Given the description of an element on the screen output the (x, y) to click on. 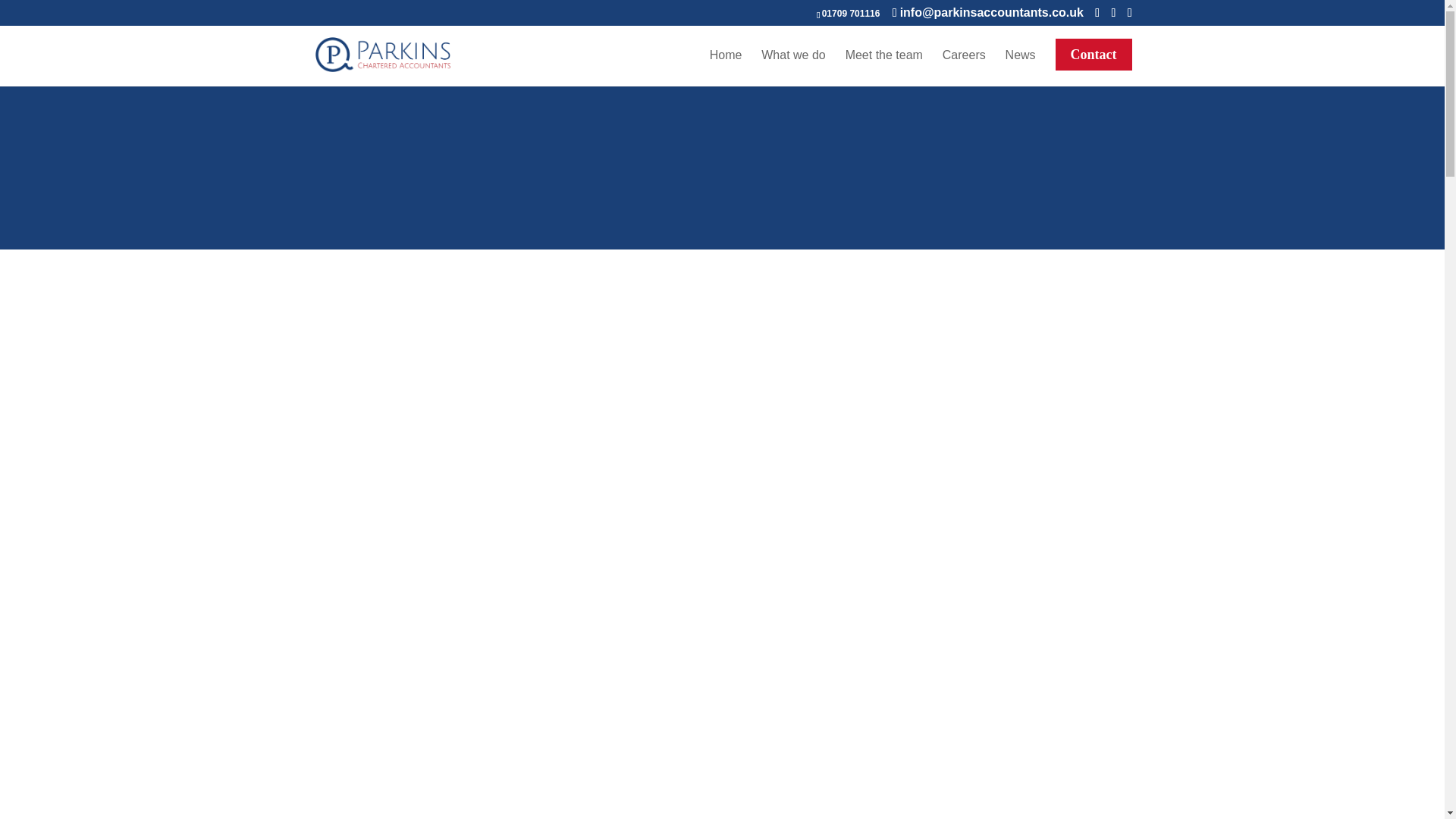
Meet the team (884, 67)
Careers (963, 67)
Contact (1093, 62)
Home (726, 67)
What we do (793, 67)
